Given the description of an element on the screen output the (x, y) to click on. 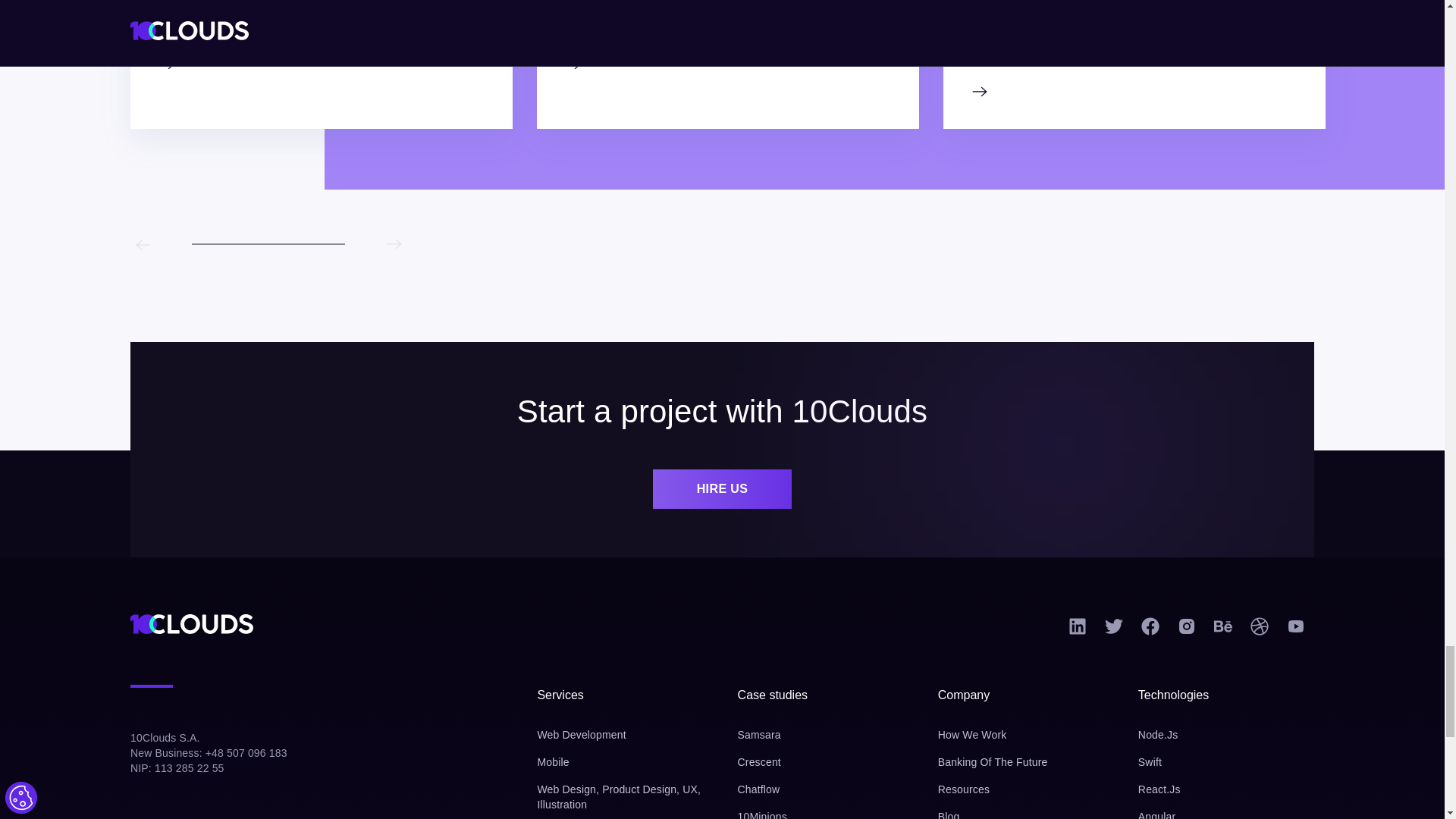
Crescent (826, 761)
Facebook fanpage (1150, 631)
Dribble account (1259, 631)
Previous slide (143, 244)
Linkedin account (1077, 631)
10Minions (826, 814)
Web Design, Product Design, UX, Illustration (625, 797)
Samsara (826, 734)
